Given the description of an element on the screen output the (x, y) to click on. 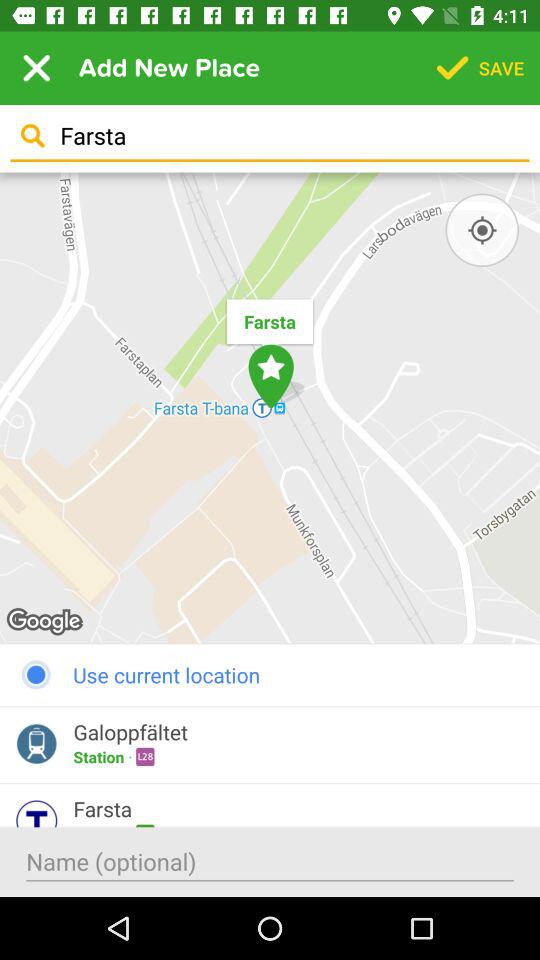
open the use current location icon (270, 674)
